Given the description of an element on the screen output the (x, y) to click on. 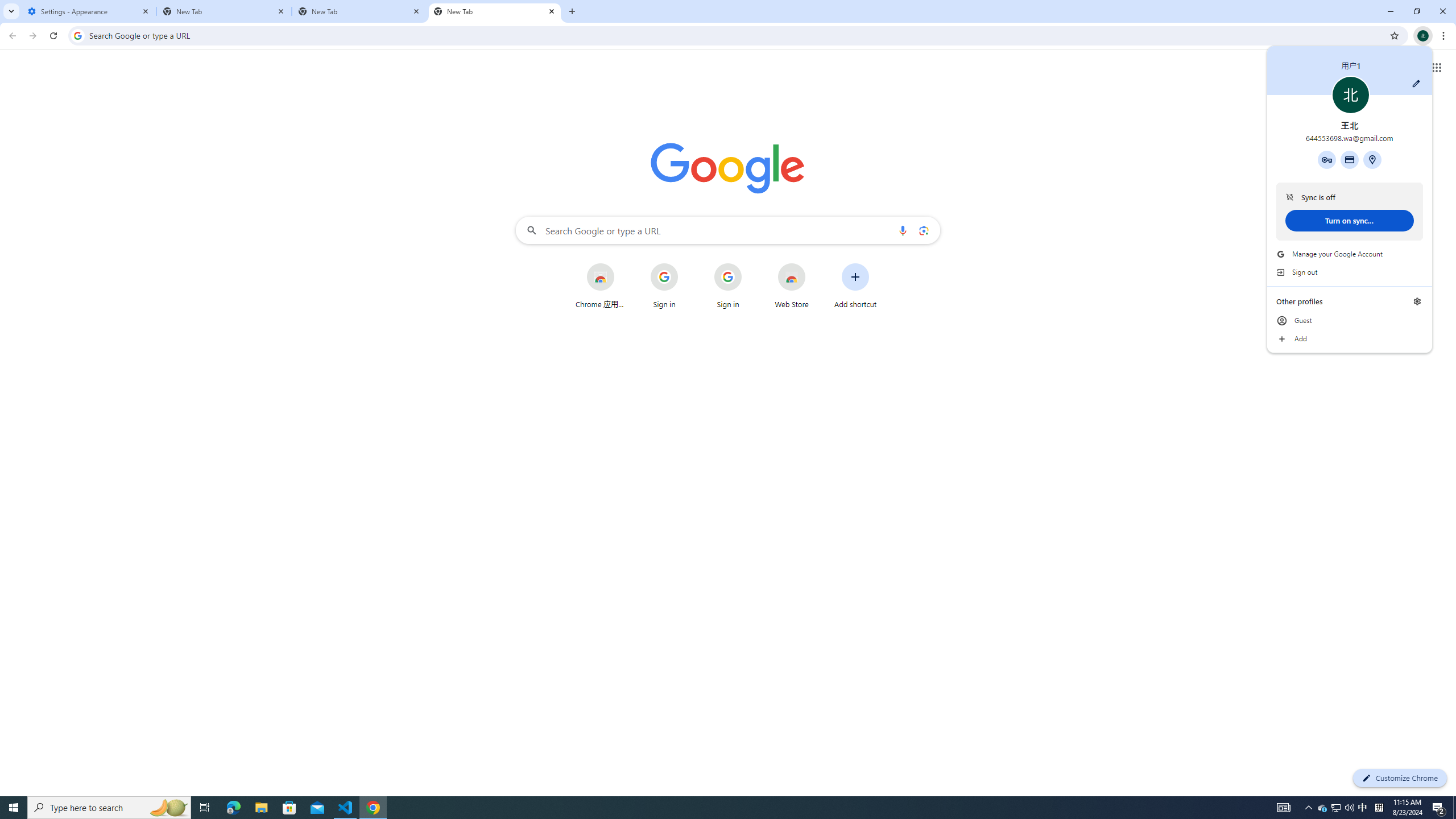
Customize profile (1415, 83)
Manage profiles (1417, 301)
Search highlights icon opens search home window (167, 807)
User Promoted Notification Area (1336, 807)
New Tab (224, 11)
Web Store (792, 285)
